Given the description of an element on the screen output the (x, y) to click on. 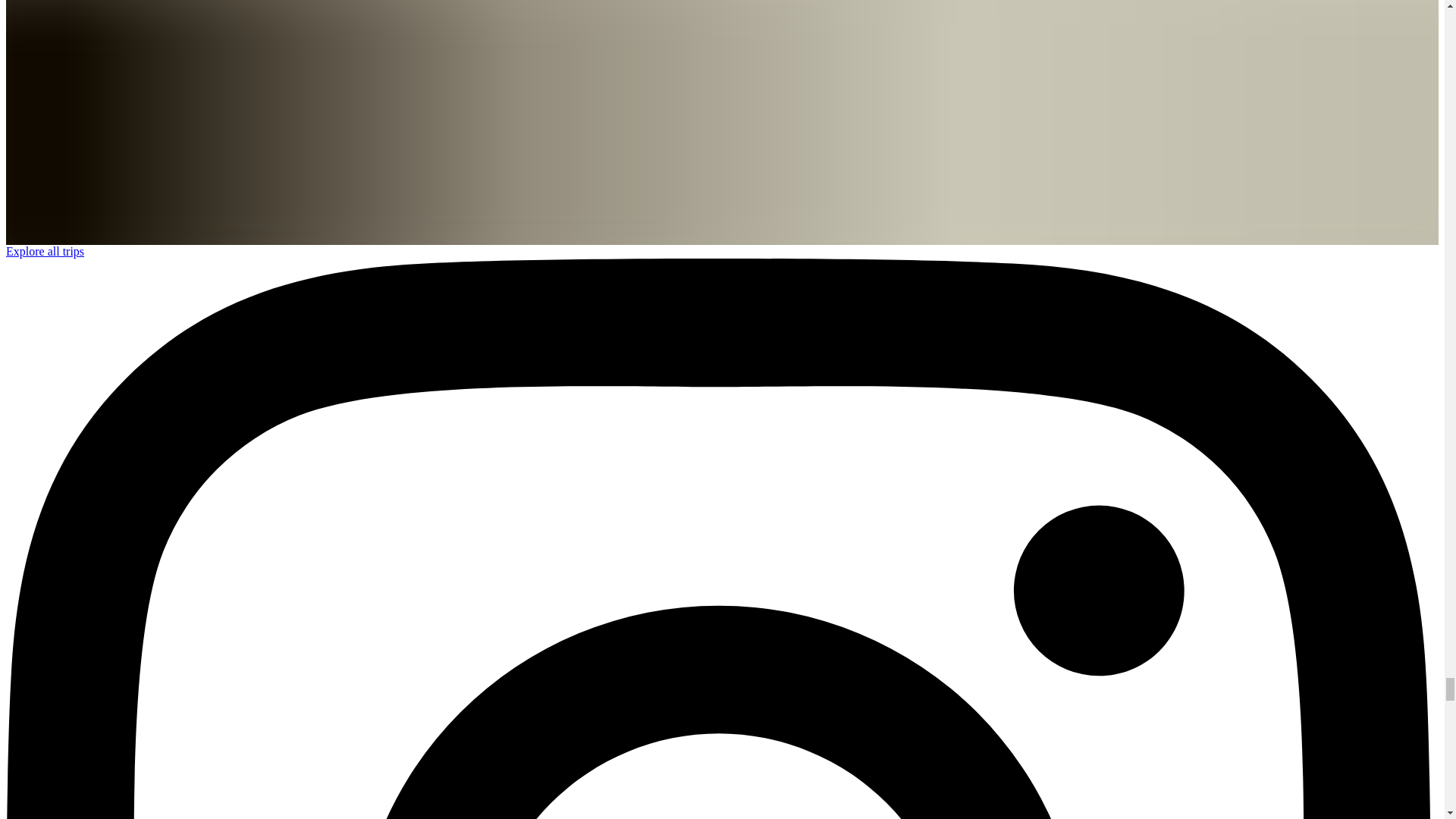
Close map view (46, 68)
